Given the description of an element on the screen output the (x, y) to click on. 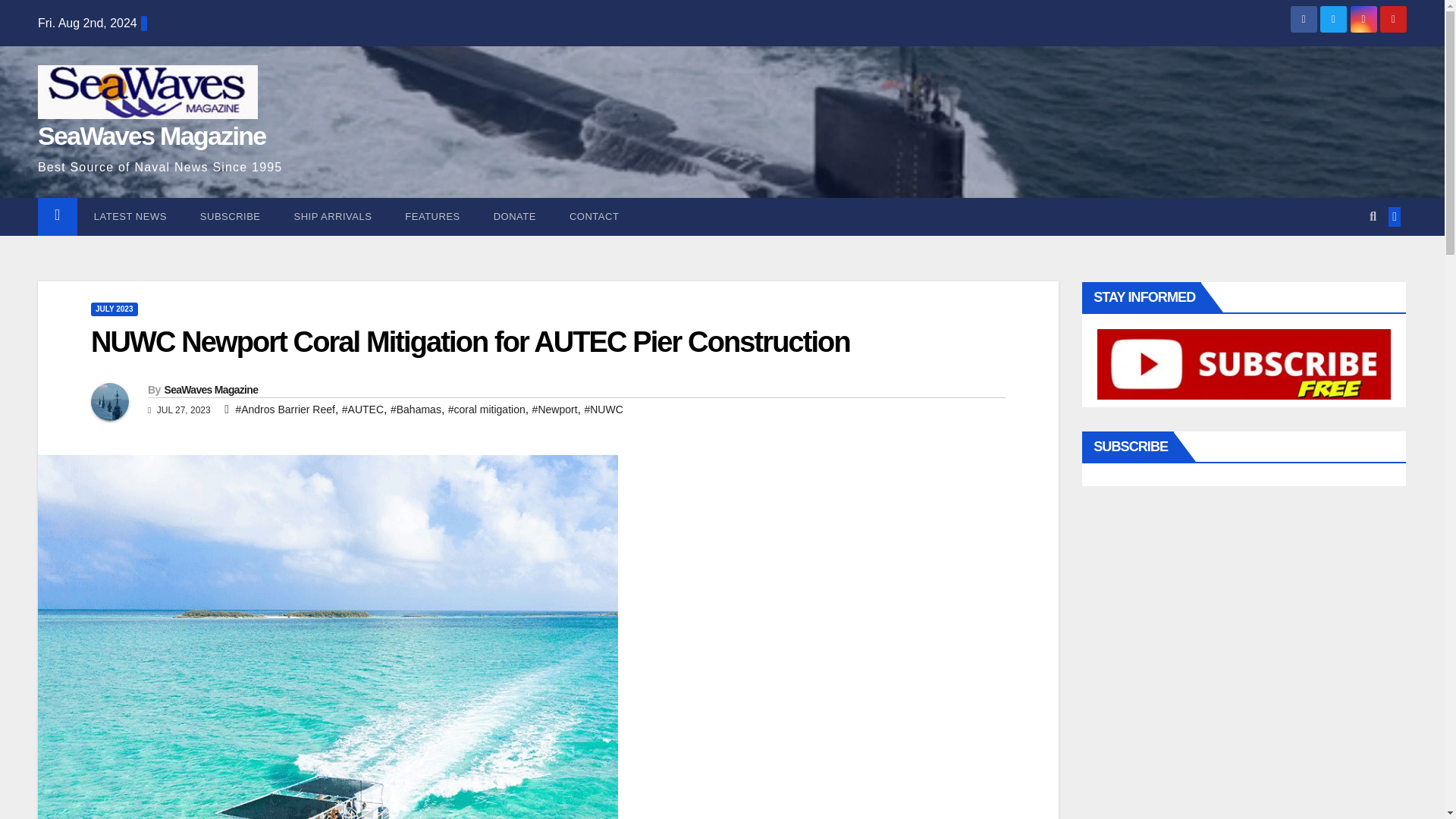
SeaWaves Magazine (151, 135)
SUBSCRIBE (230, 216)
FEATURES (432, 216)
Features (432, 216)
Subscribe (230, 216)
LATEST NEWS (130, 216)
Ship Arrivals (333, 216)
Latest News (130, 216)
SHIP ARRIVALS (333, 216)
